Given the description of an element on the screen output the (x, y) to click on. 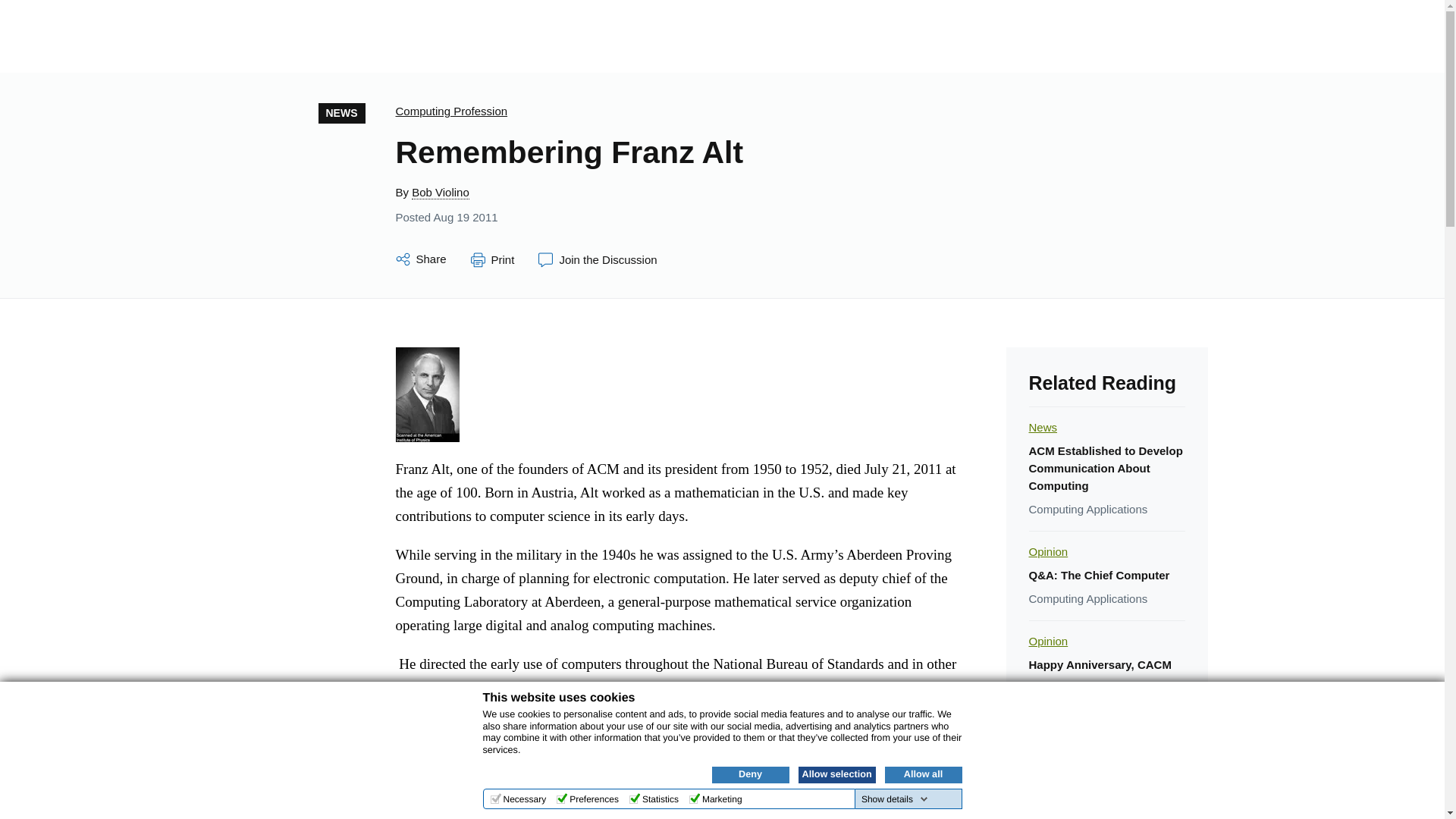
Allow all (921, 774)
Deny (750, 774)
Allow selection (836, 774)
Show details (895, 799)
